Given the description of an element on the screen output the (x, y) to click on. 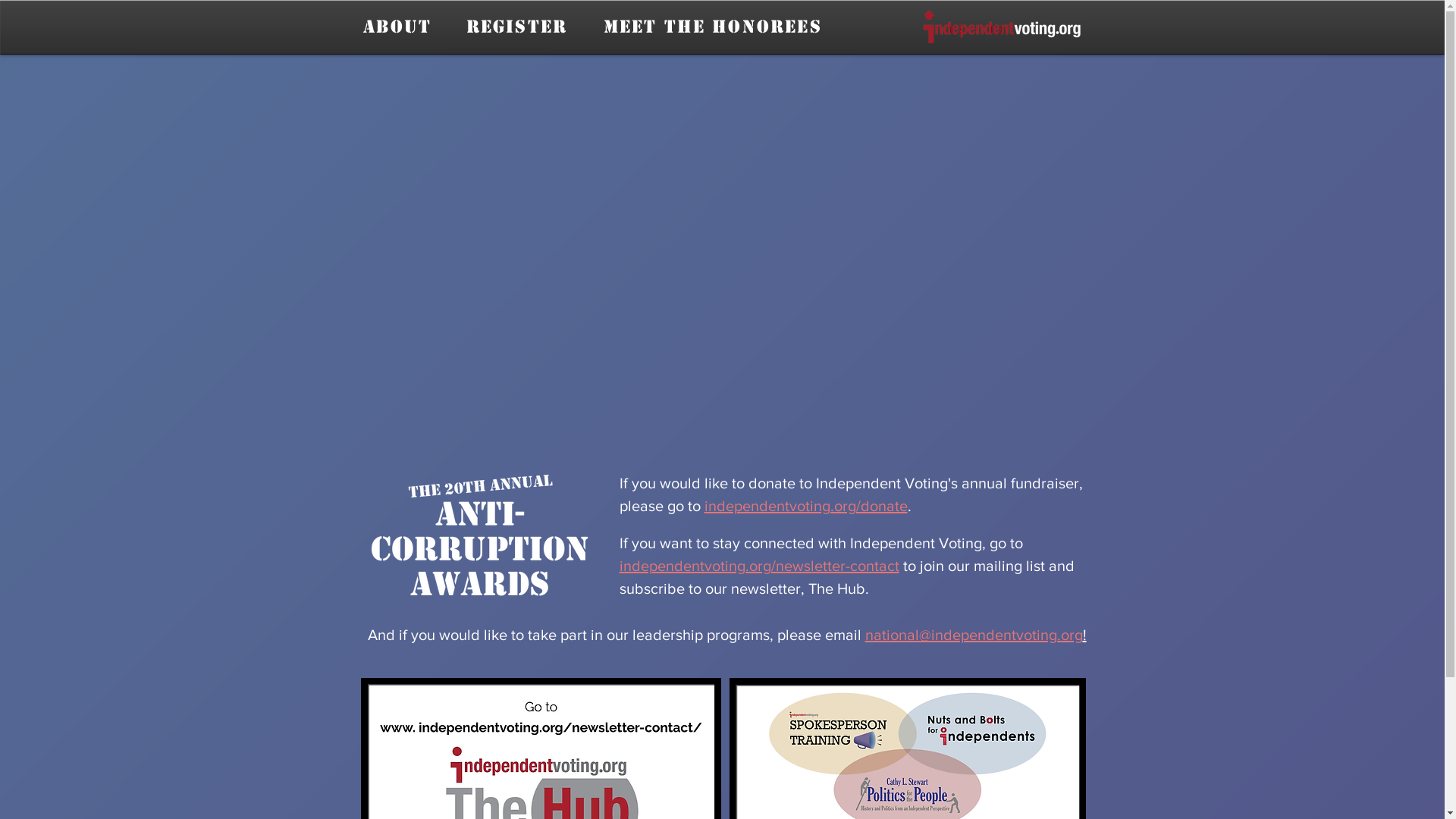
meet the honorees Element type: text (712, 26)
! Element type: text (1084, 634)
national@independentvoting.org Element type: text (973, 634)
About Element type: text (396, 26)
independentvoting.org/donate Element type: text (804, 505)
Embedded Content Element type: hover (721, 251)
independentvoting.org/newsletter-contact Element type: text (758, 565)
Register Element type: text (516, 26)
